Given the description of an element on the screen output the (x, y) to click on. 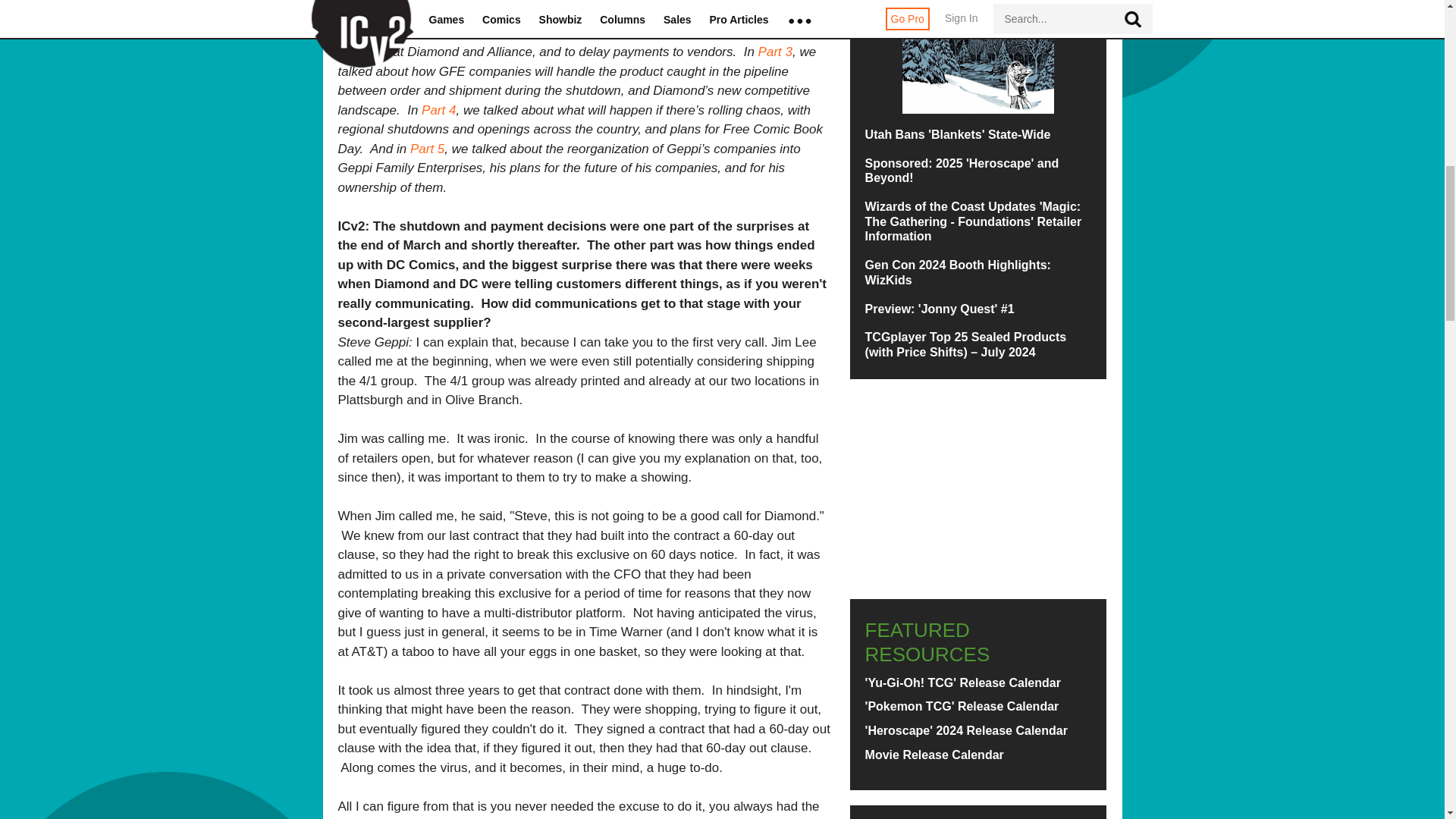
Part 1 (368, 32)
Part 5 (427, 148)
Part 4 (438, 110)
Part 3 (775, 51)
